Given the description of an element on the screen output the (x, y) to click on. 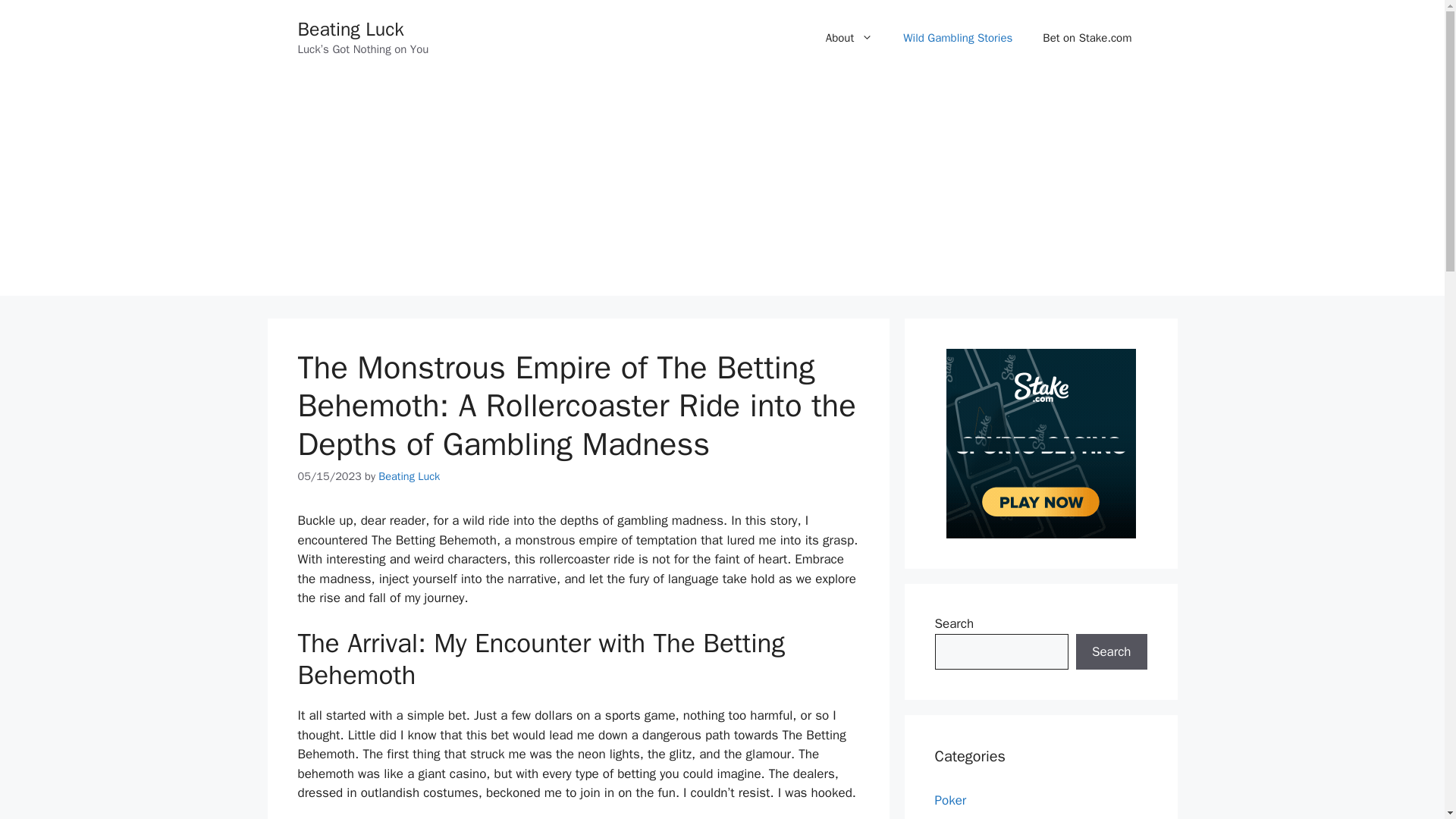
Search (1111, 651)
View all posts by Beating Luck (408, 476)
Wild Gambling Stories (957, 37)
Beating Luck (350, 28)
Beating Luck (408, 476)
Poker (950, 800)
Bet on Stake.com (1087, 37)
About (849, 37)
